Given the description of an element on the screen output the (x, y) to click on. 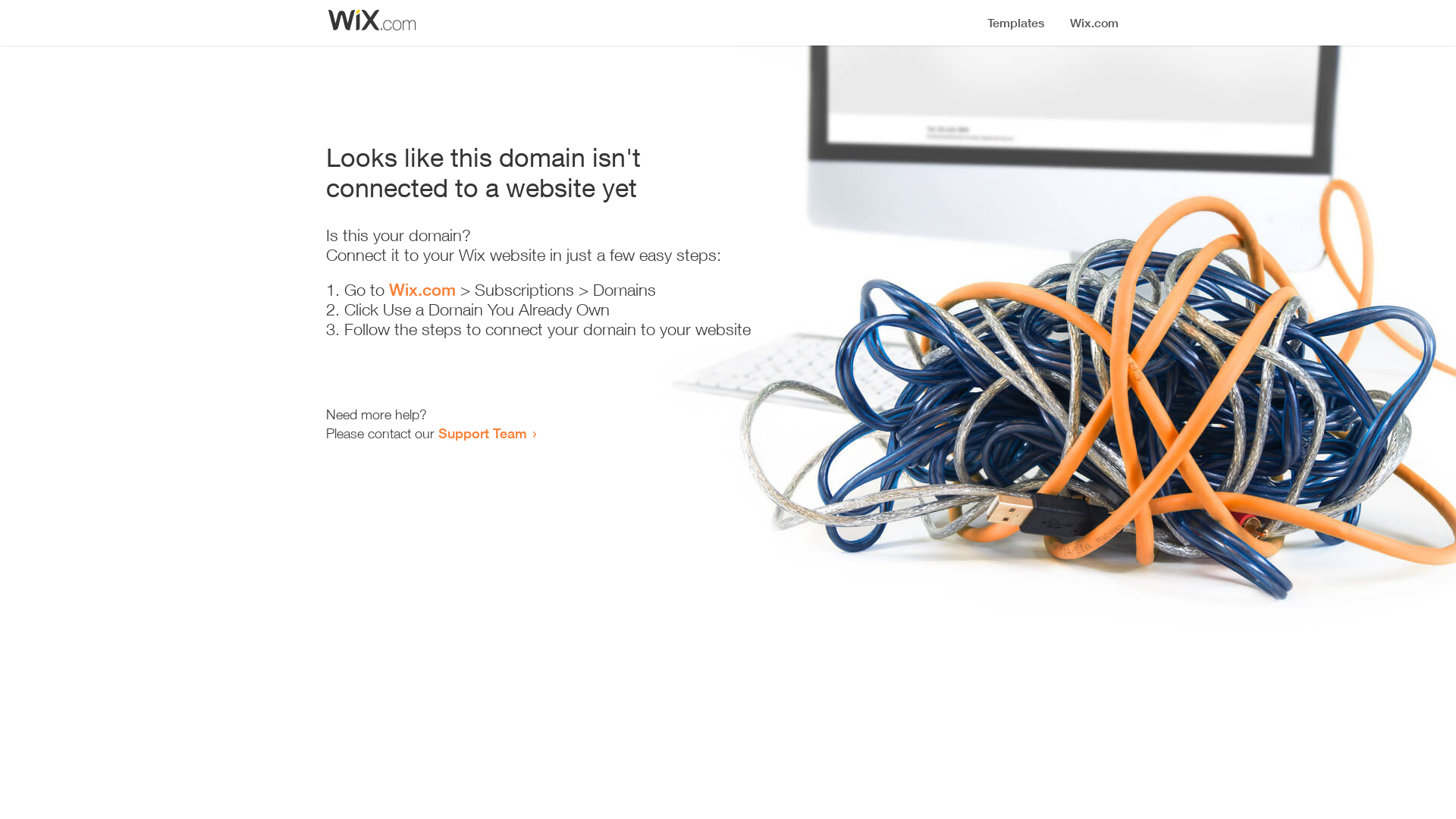
Support Team Element type: text (482, 432)
Wix.com Element type: text (422, 289)
